Given the description of an element on the screen output the (x, y) to click on. 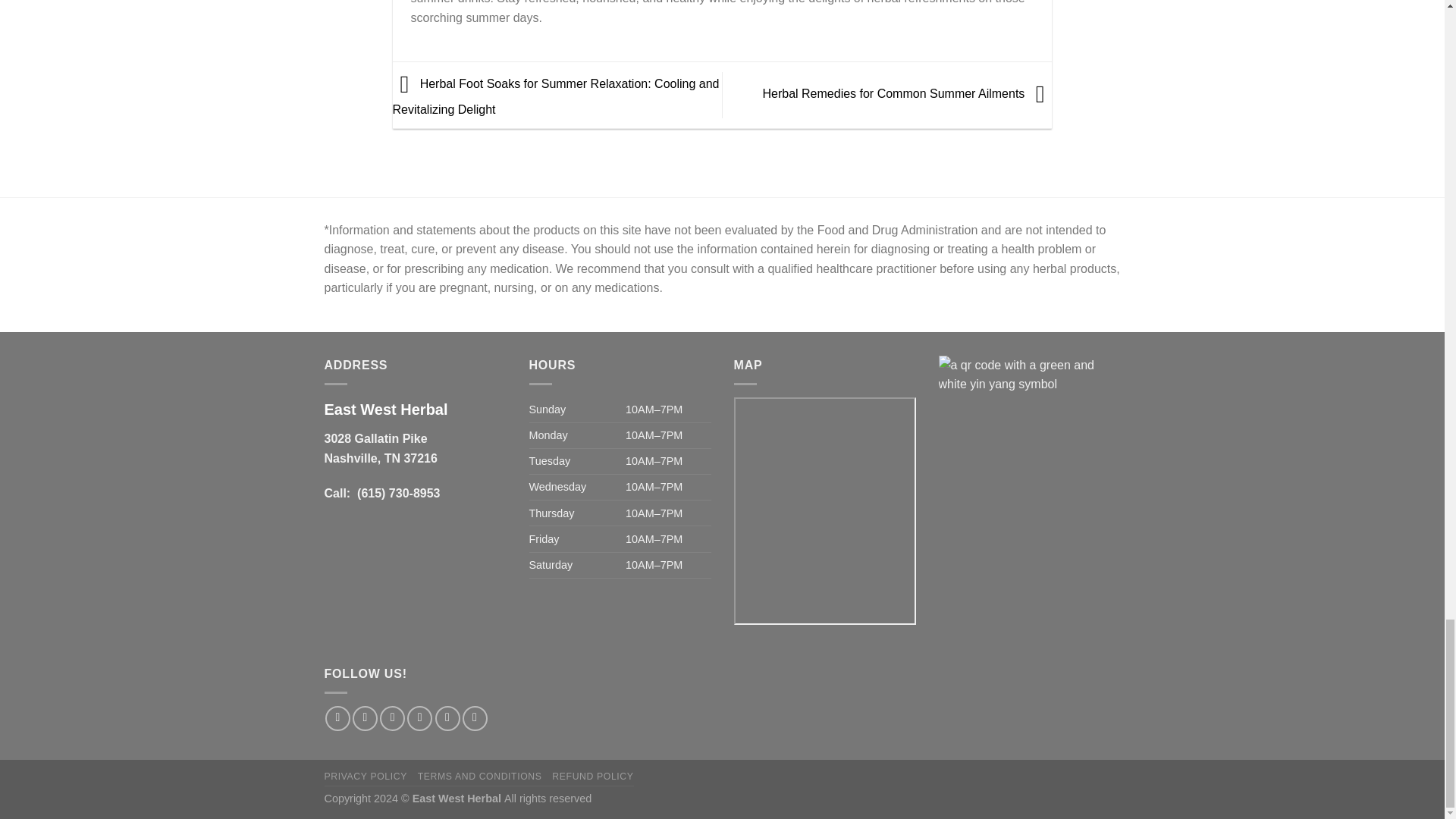
Follow on Instagram (364, 718)
Follow on TikTok (392, 718)
Follow on Facebook (337, 718)
